Given the description of an element on the screen output the (x, y) to click on. 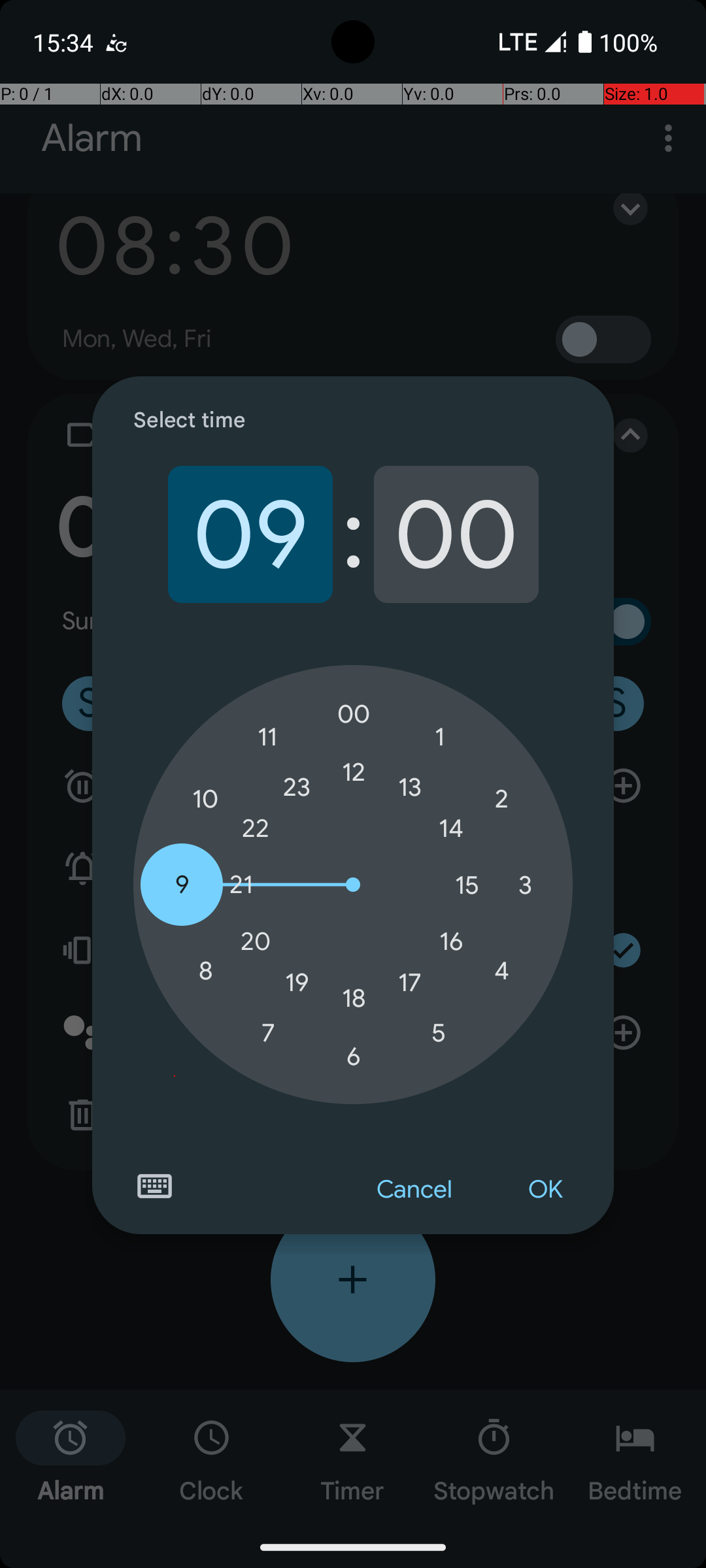
09 Element type: android.view.View (250, 534)
